Given the description of an element on the screen output the (x, y) to click on. 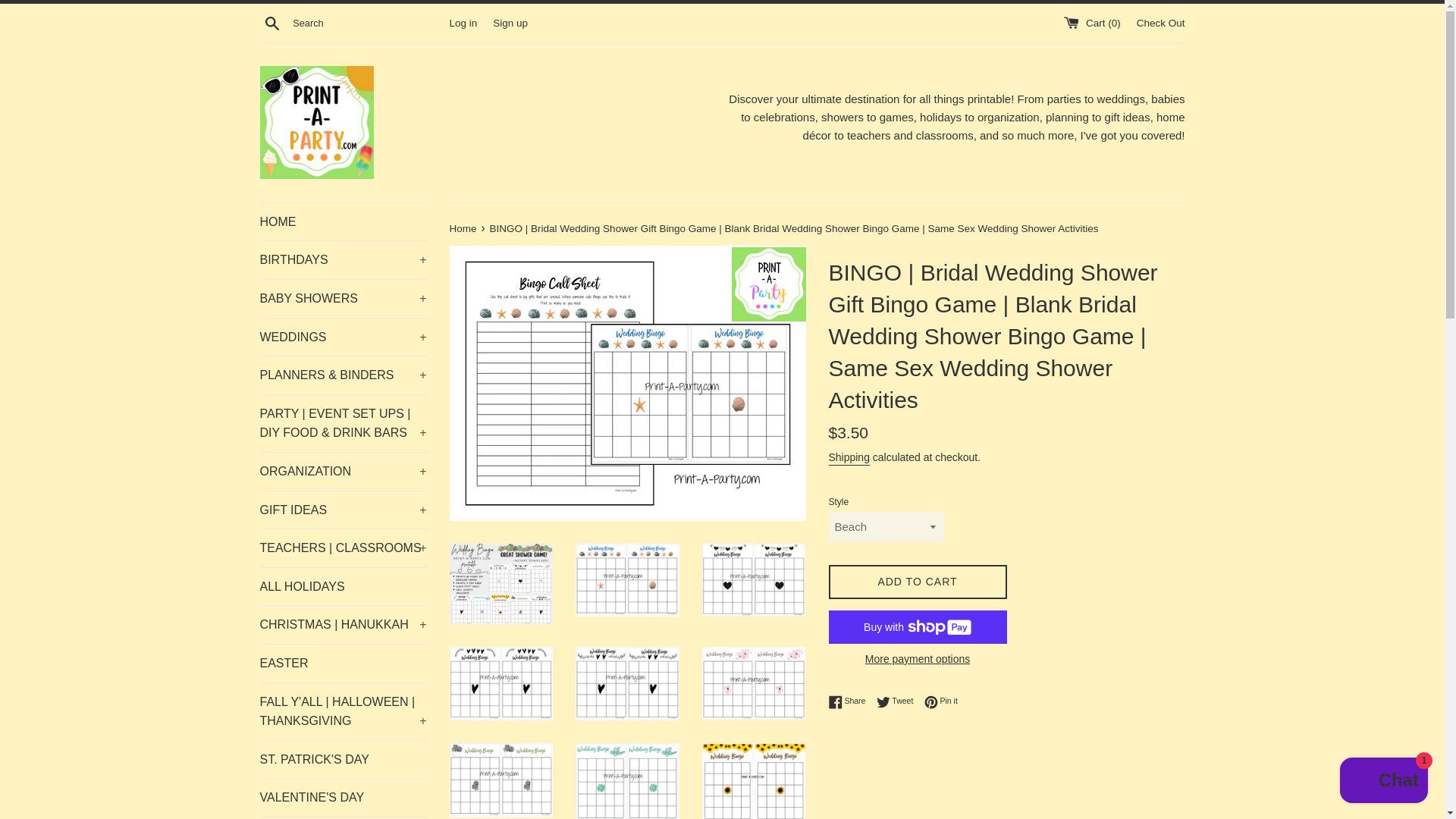
Log in (462, 21)
Search (271, 21)
Pin on Pinterest (941, 701)
Check Out (1161, 21)
Tweet on Twitter (898, 701)
Sign up (510, 21)
HOME (342, 221)
Share on Facebook (850, 701)
Shopify online store chat (1383, 781)
Back to the frontpage (463, 228)
